Given the description of an element on the screen output the (x, y) to click on. 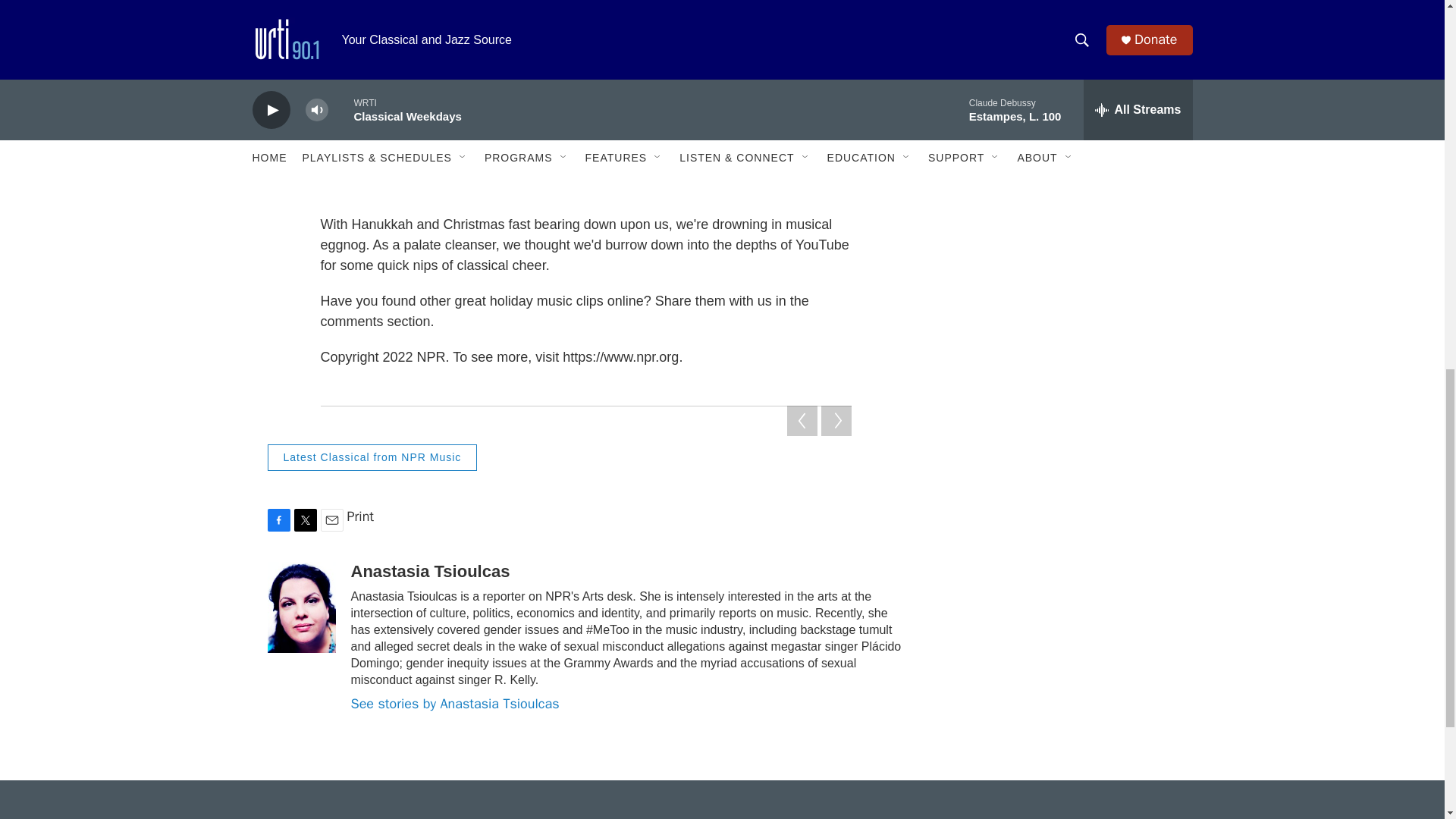
3rd party ad content (1062, 380)
3rd party ad content (1062, 175)
3rd party ad content (1062, 585)
